Given the description of an element on the screen output the (x, y) to click on. 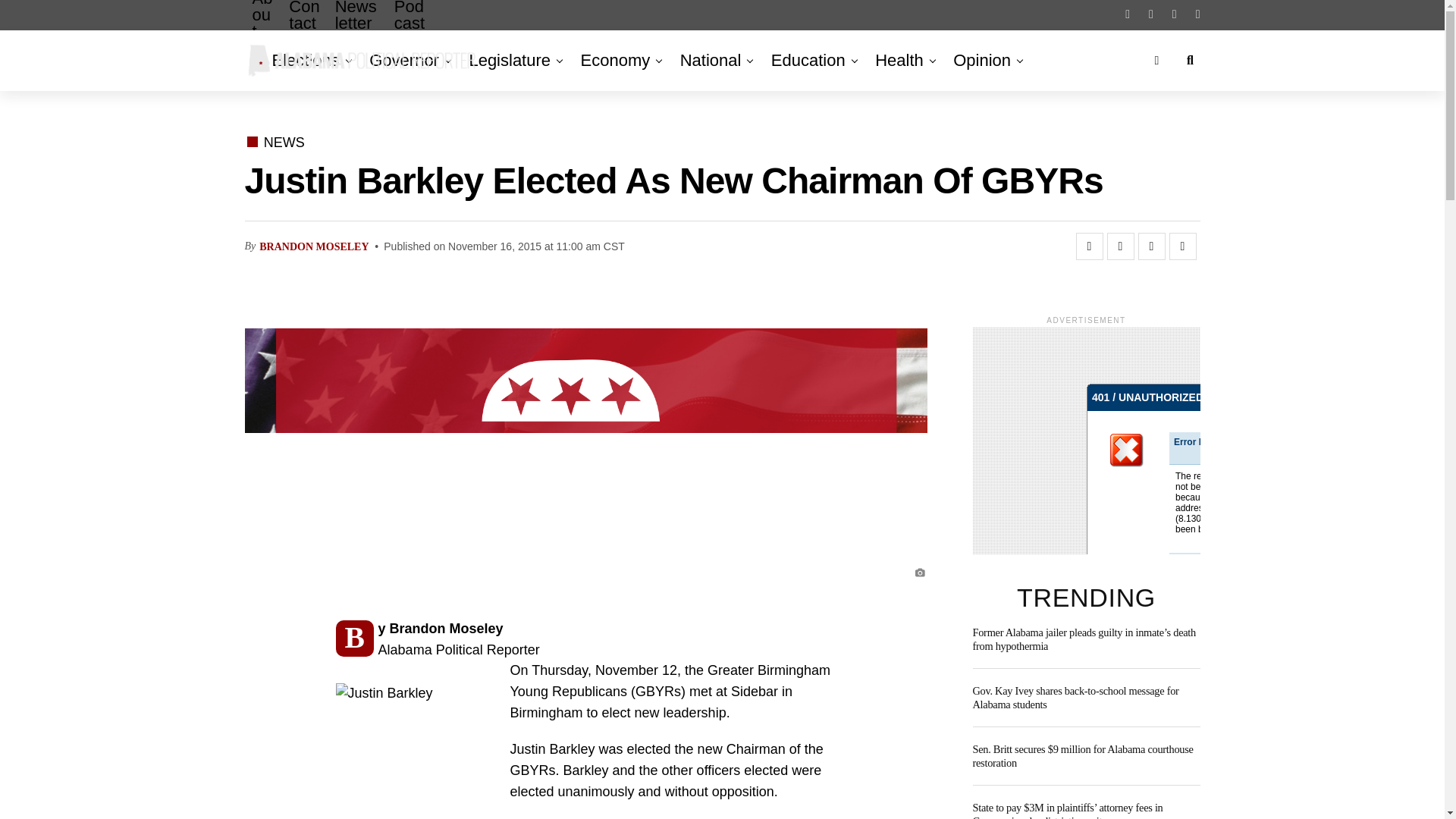
Newsletter (357, 27)
Elections (308, 60)
Share on Flipboard (1150, 246)
Governor (403, 60)
Tweet This Post (1120, 246)
Share on Facebook (1088, 246)
Posts by Brandon Moseley (313, 246)
